Given the description of an element on the screen output the (x, y) to click on. 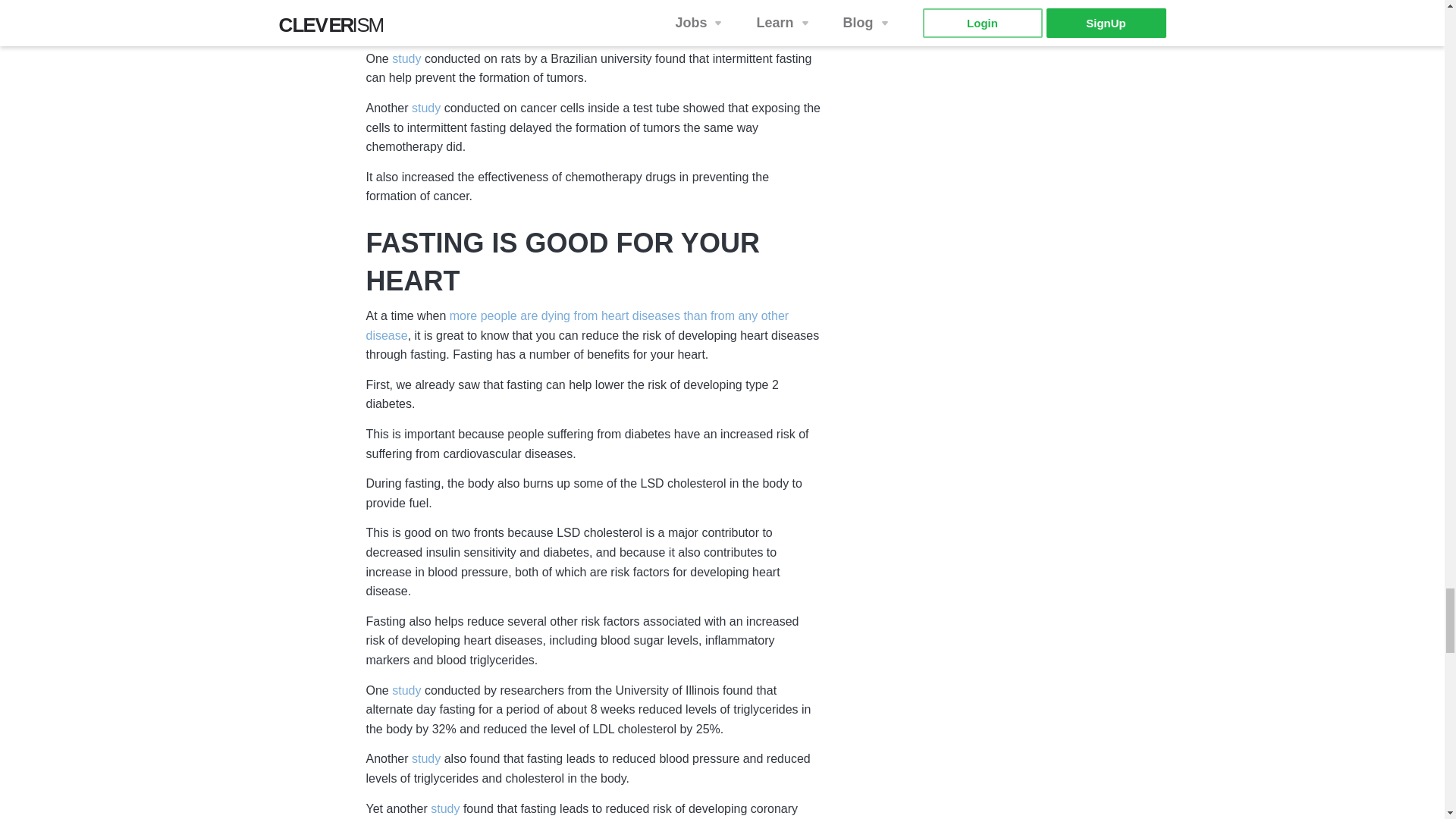
study (426, 759)
study (426, 109)
study (405, 59)
study (405, 691)
